Given the description of an element on the screen output the (x, y) to click on. 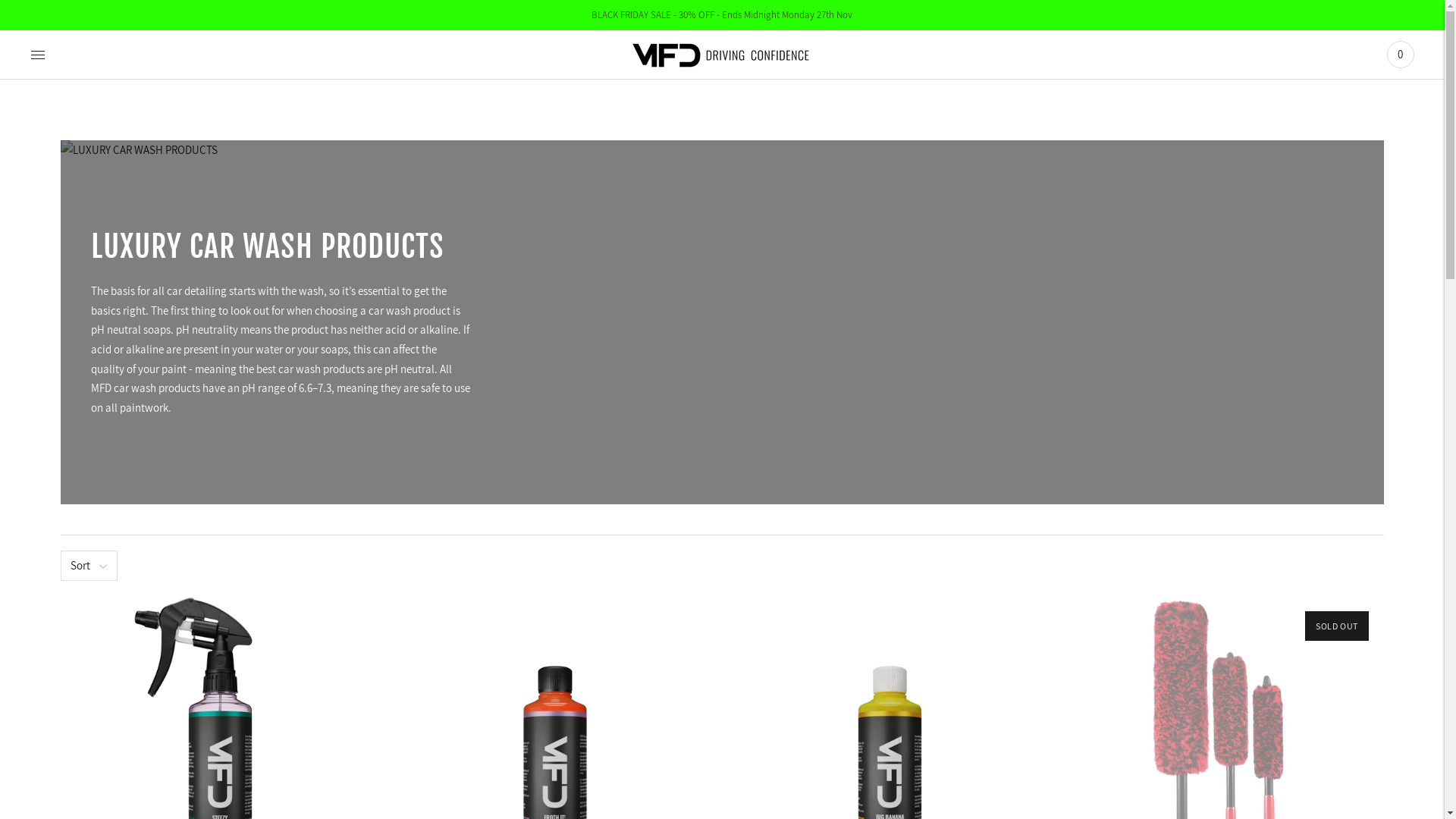
Sort Element type: text (88, 565)
BLACK FRIDAY SALE - 30% OFF - Ends Midnight Monday 27th Nov Element type: text (721, 14)
0 Element type: text (1400, 54)
